Given the description of an element on the screen output the (x, y) to click on. 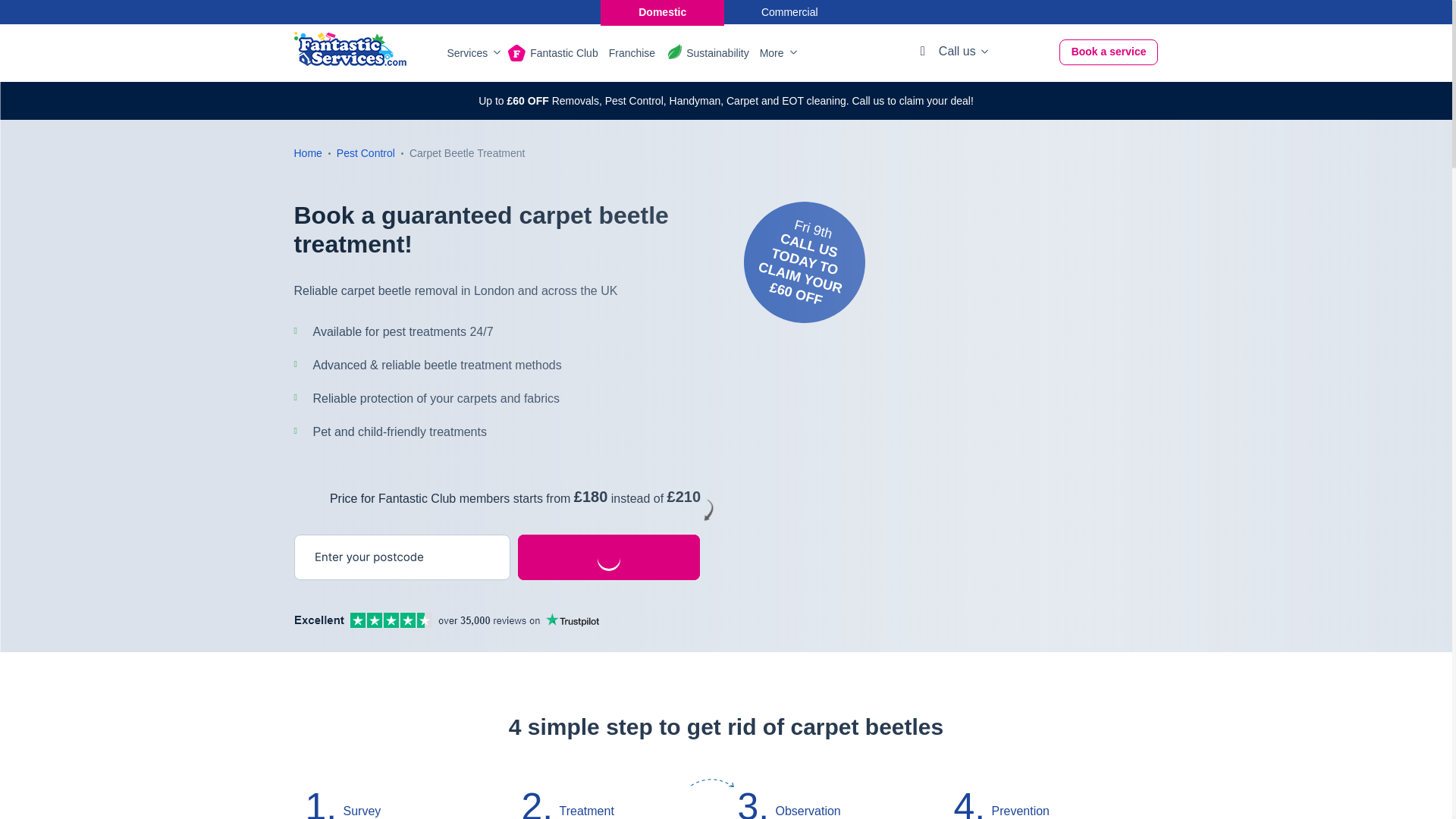
Franchise (632, 52)
Commercial (789, 12)
For business clients (789, 12)
Services (472, 52)
For domestic clients (661, 12)
Book a service (1108, 52)
Domestic (661, 12)
Fantastic Club (563, 52)
Sustainability (717, 52)
Fantastic Services Logo (350, 48)
